Given the description of an element on the screen output the (x, y) to click on. 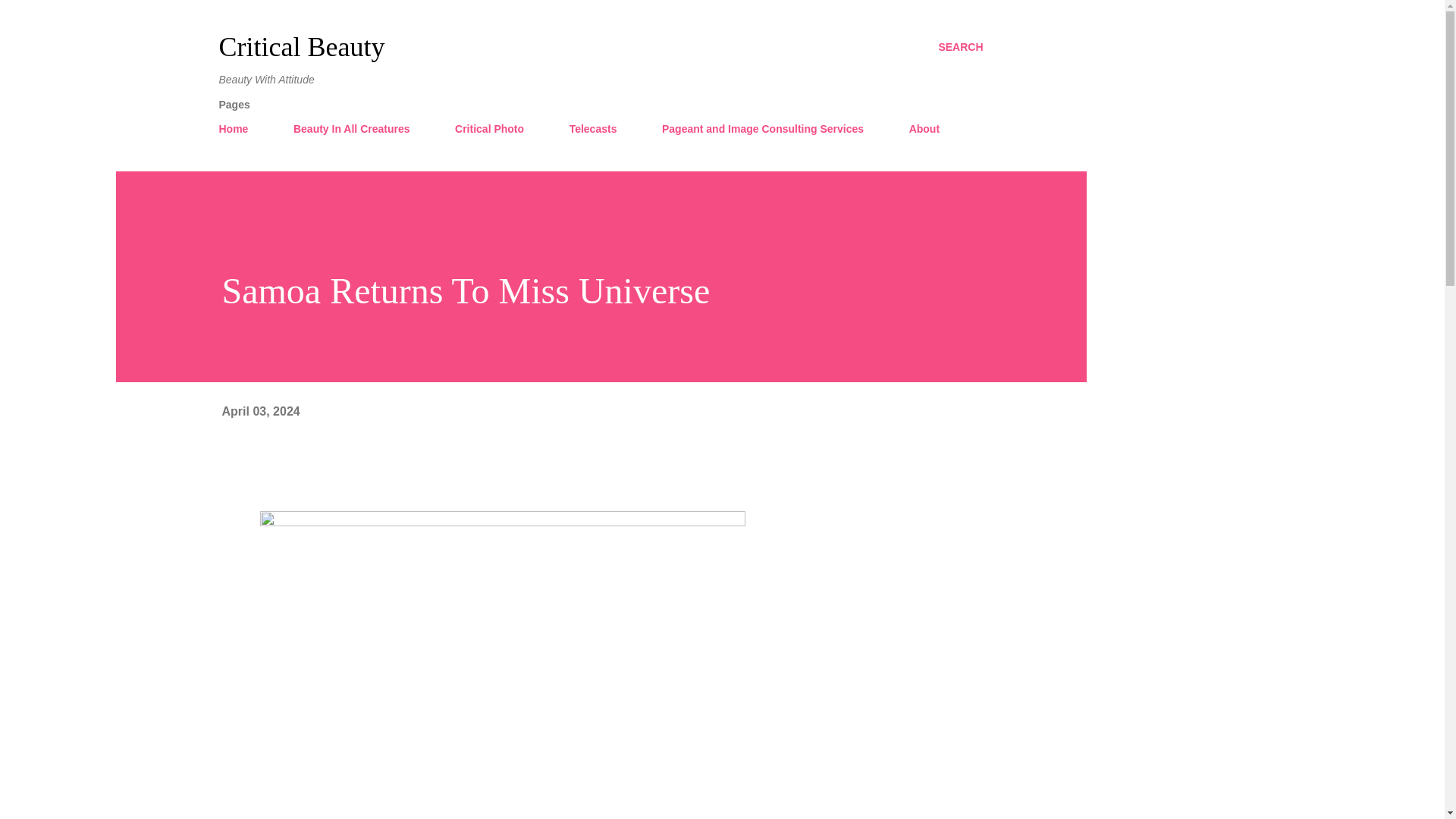
Telecasts (593, 128)
Critical Photo (488, 128)
About (924, 128)
Home (237, 128)
Critical Beauty (301, 46)
April 03, 2024 (260, 410)
permanent link (260, 410)
Beauty In All Creatures (351, 128)
Pageant and Image Consulting Services (762, 128)
SEARCH (959, 46)
